Given the description of an element on the screen output the (x, y) to click on. 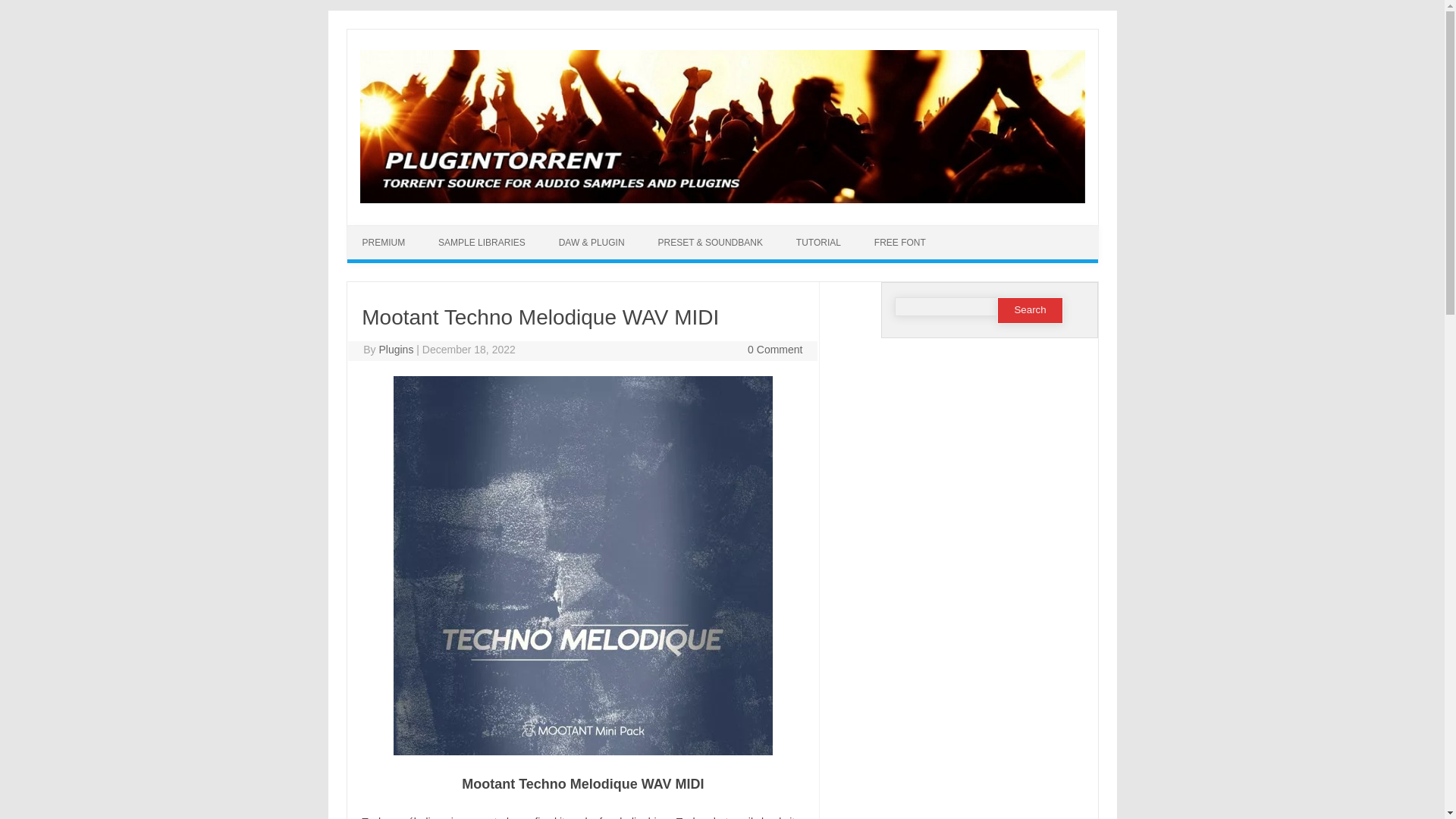
FREE FONT (899, 242)
Plugins (395, 349)
TUTORIAL (818, 242)
Skip to content (757, 230)
Posts by Plugins (395, 349)
Search (1029, 310)
PREMIUM (383, 242)
0 Comment (775, 349)
SAMPLE LIBRARIES (481, 242)
Skip to content (757, 230)
Search (1029, 310)
Plugintorrent (721, 199)
